Given the description of an element on the screen output the (x, y) to click on. 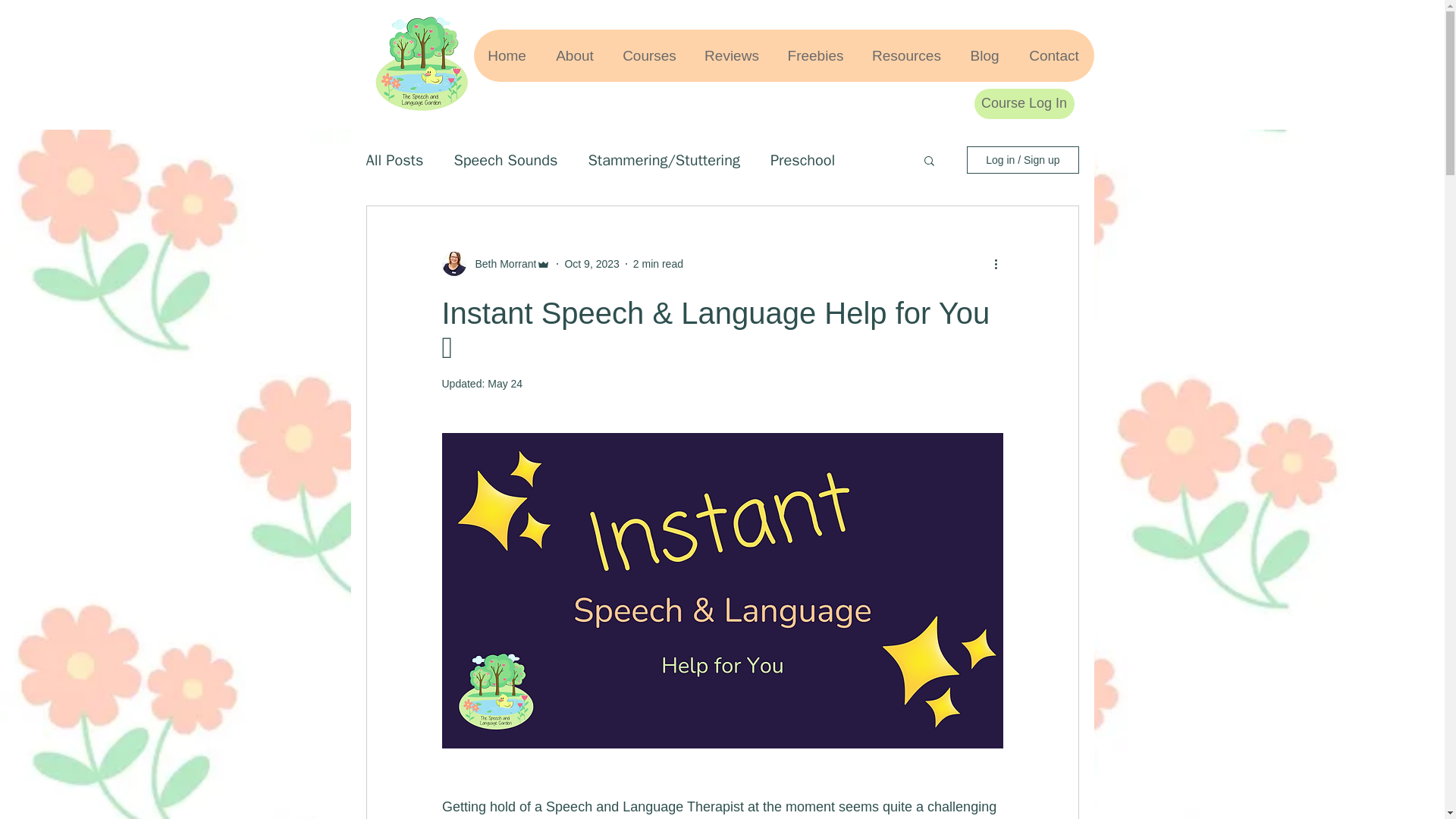
Preschool (802, 159)
Blog (984, 55)
About (574, 55)
Freebies (815, 55)
Home (506, 55)
Reviews (731, 55)
Oct 9, 2023 (591, 263)
Beth Morrant (500, 263)
Resources (906, 55)
Course Log In (1024, 103)
Contact (1053, 55)
All Posts (394, 159)
Speech Sounds (504, 159)
Courses (648, 55)
May 24 (504, 383)
